Given the description of an element on the screen output the (x, y) to click on. 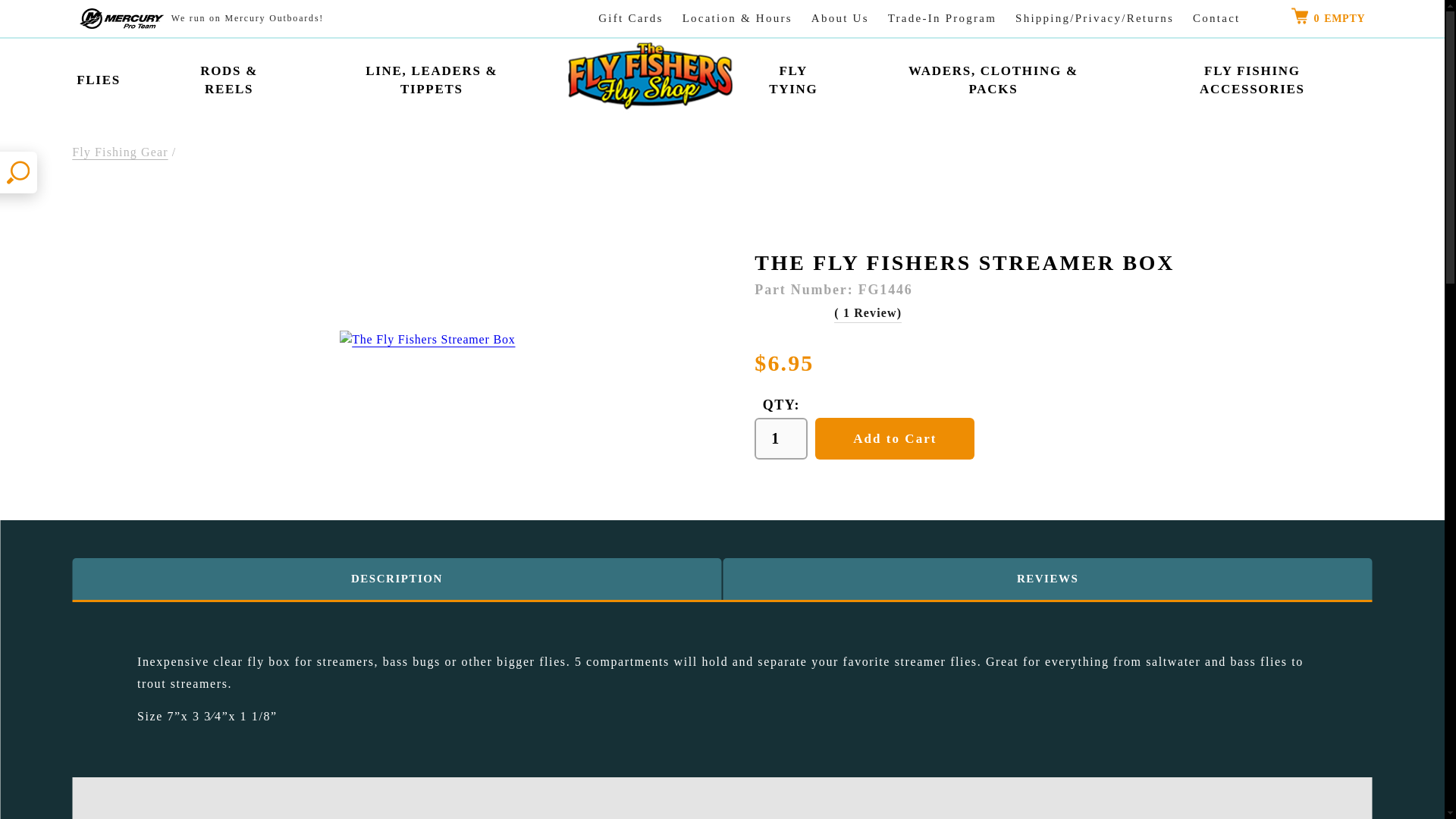
Contact (1216, 18)
Trade-In Program (941, 18)
About Us (839, 18)
Who we are - Fishers (839, 18)
1 (781, 438)
Fly Fishers Fishing Shop Store Hours and Days Open (737, 18)
Search (18, 172)
Used Fly Fishing Equipment Trade In Program (941, 18)
0 EMPTY (1328, 18)
